Given the description of an element on the screen output the (x, y) to click on. 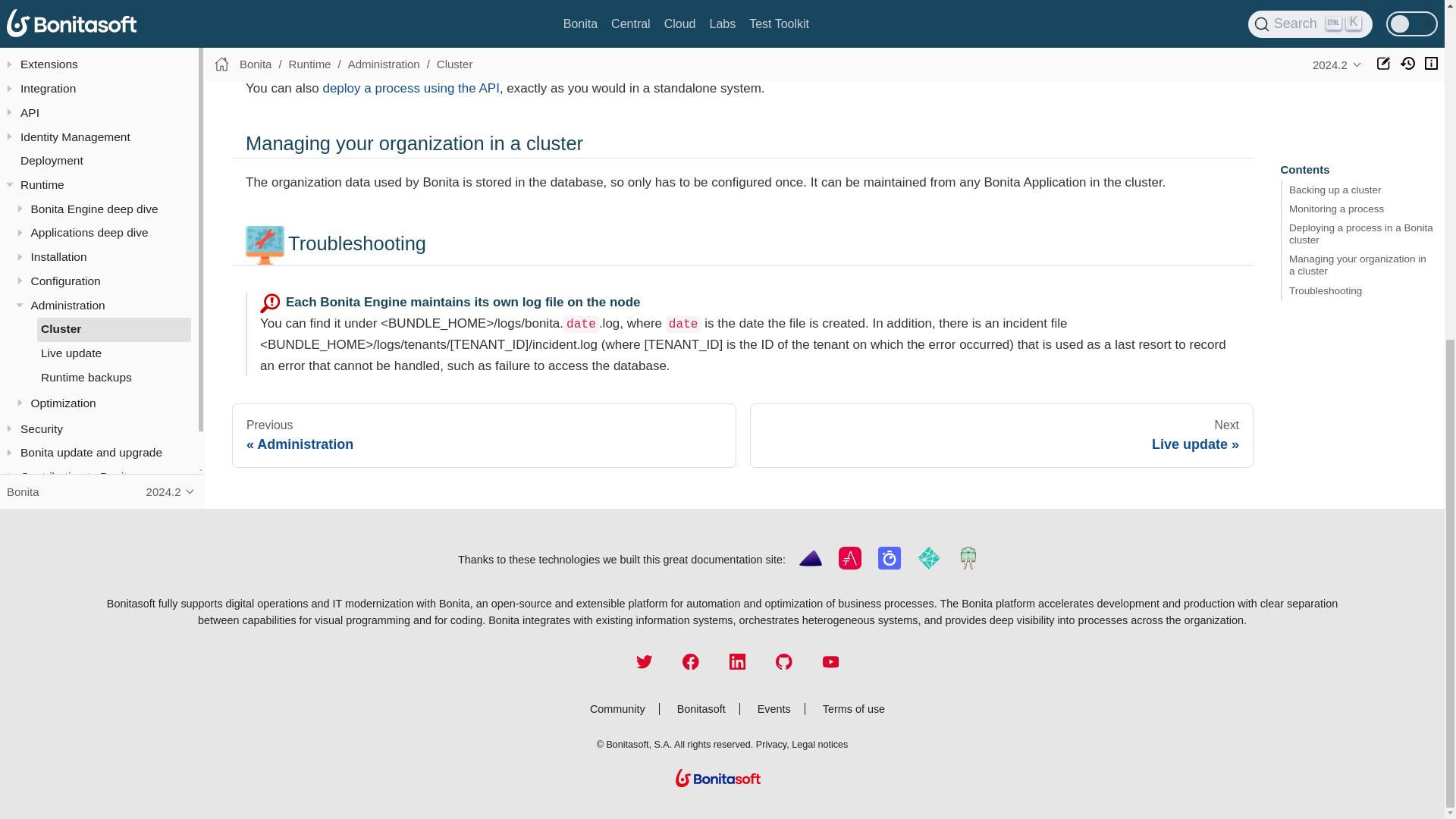
Text processing by Asciidoctor (849, 565)
Web publishing preview by Surge (968, 565)
Site generation by Antora (810, 565)
Site hosting by Netlify (929, 565)
Search by Algolia DocSearch (888, 565)
